Given the description of an element on the screen output the (x, y) to click on. 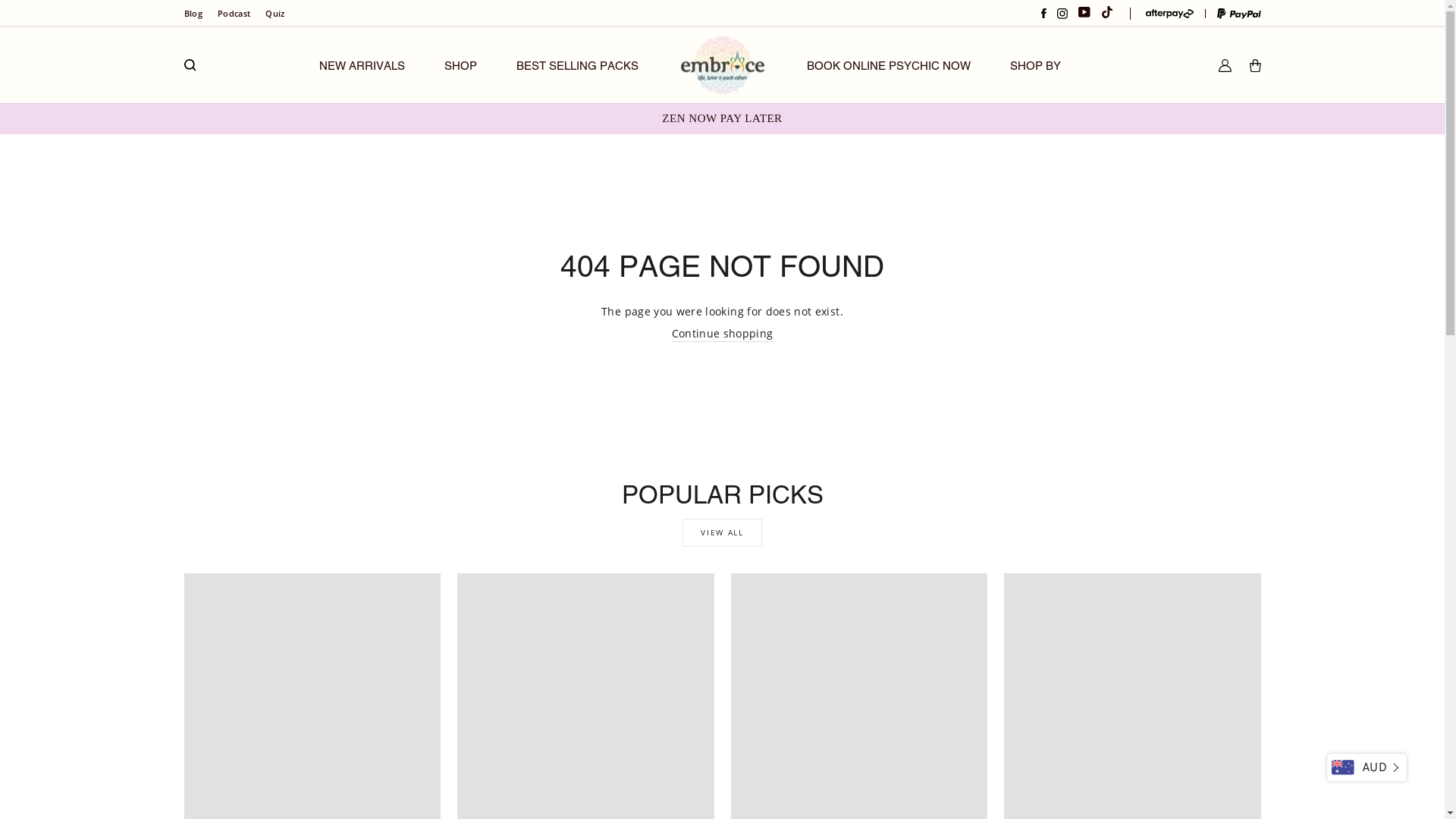
Continue shopping Element type: text (722, 334)
SHOP BY Element type: text (1035, 64)
Skip to content Element type: text (0, 0)
Quiz Element type: text (274, 12)
SHOP Element type: text (460, 64)
BEST SELLING PACKS Element type: text (577, 64)
Facebook Element type: text (1043, 13)
CART Element type: text (1255, 65)
NEW ARRIVALS Element type: text (361, 64)
BOOK ONLINE PSYCHIC NOW Element type: text (888, 64)
Podcast Element type: text (233, 12)
TikTok Element type: text (1106, 13)
Instagram Element type: text (1062, 13)
LOG IN Element type: text (1224, 65)
SEARCH Element type: text (189, 65)
YouTube Element type: text (1084, 13)
VIEW ALL Element type: text (721, 532)
Blog Element type: text (192, 12)
